Given the description of an element on the screen output the (x, y) to click on. 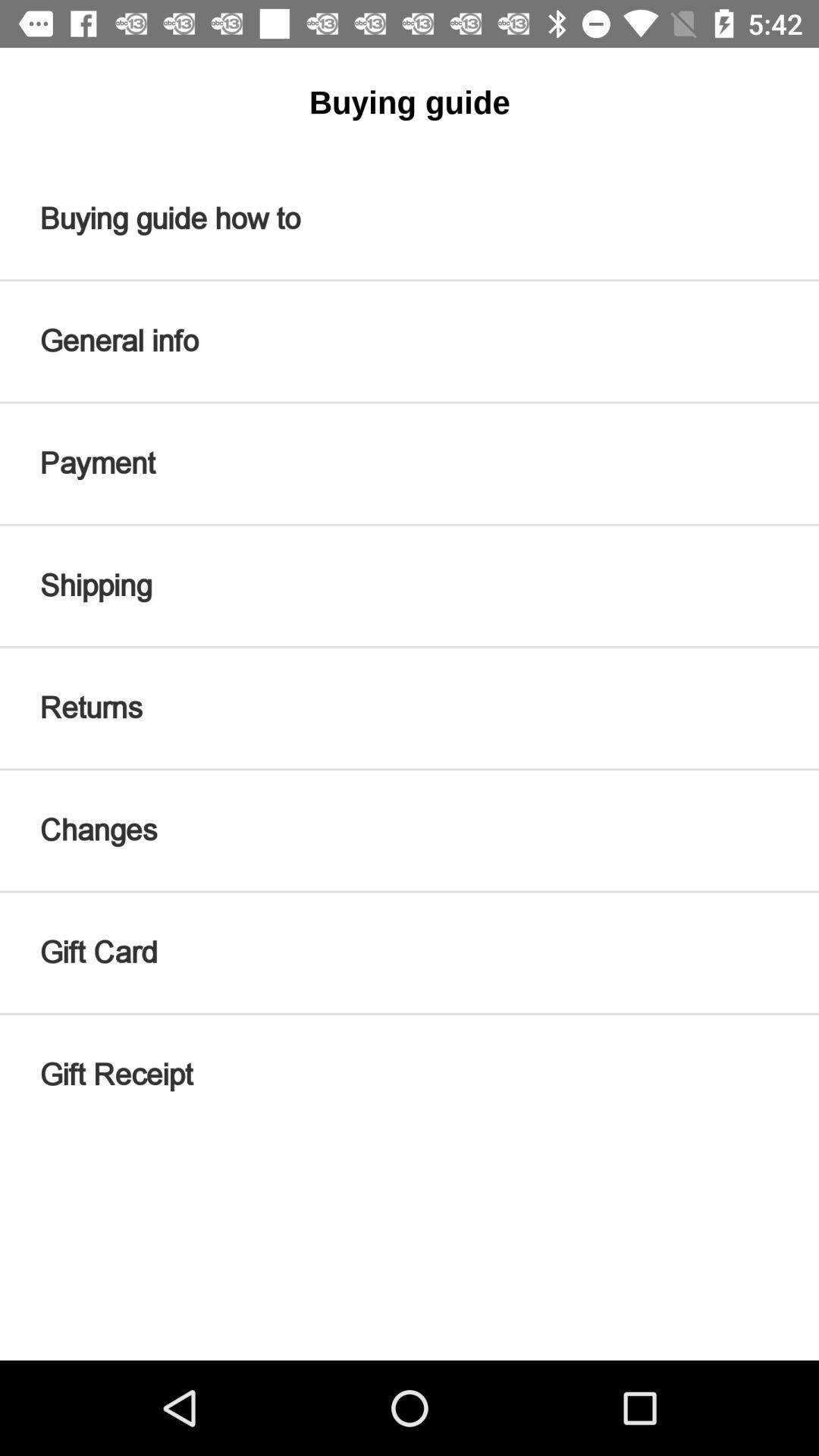
open the item below buying guide how item (409, 341)
